Given the description of an element on the screen output the (x, y) to click on. 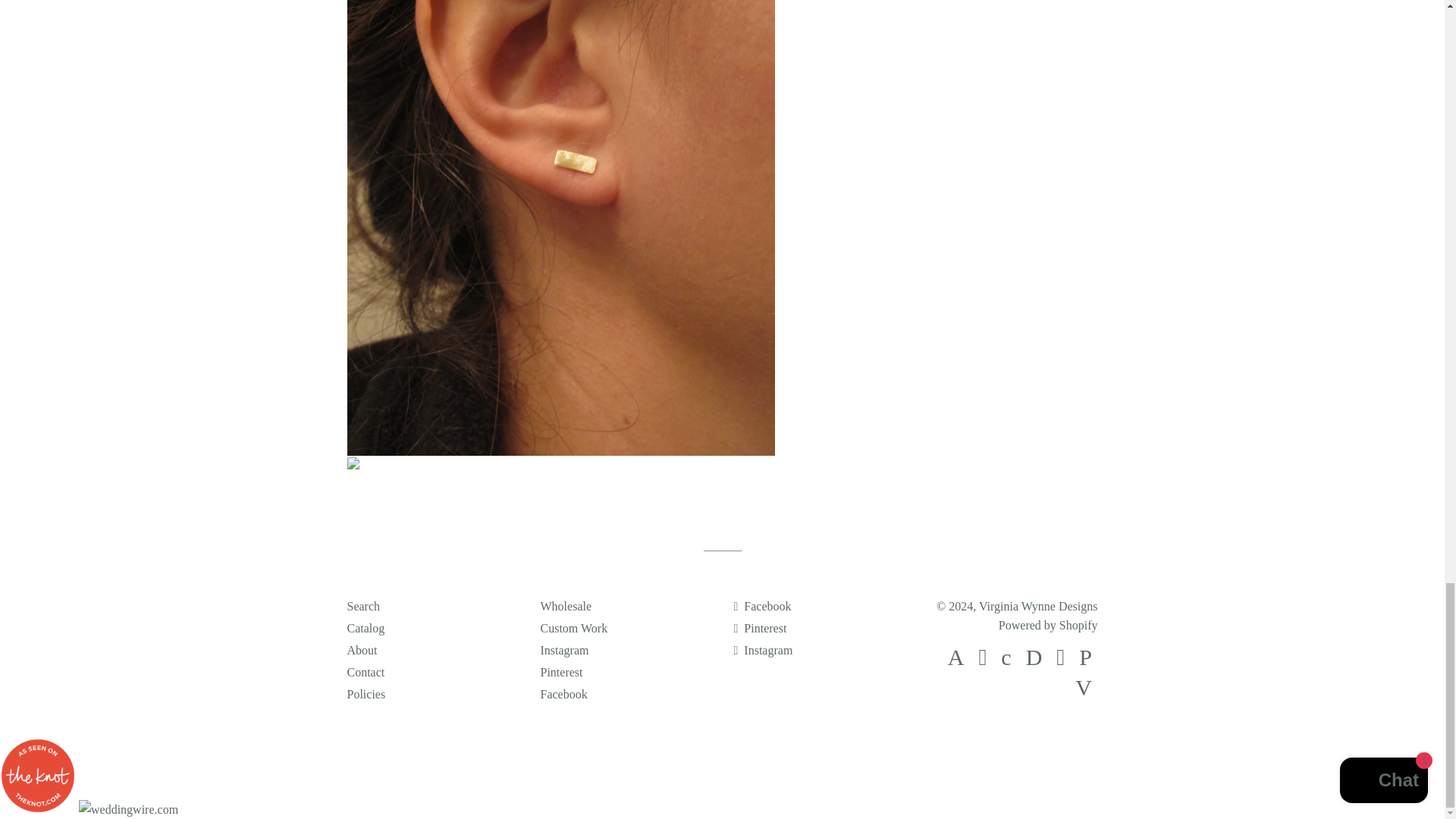
Virginia Wynne Designs on Facebook (762, 605)
Virginia Wynne Designs on Instagram (763, 649)
weddingwire.com (127, 809)
Virginia Wynne Designs on Pinterest (760, 627)
